Given the description of an element on the screen output the (x, y) to click on. 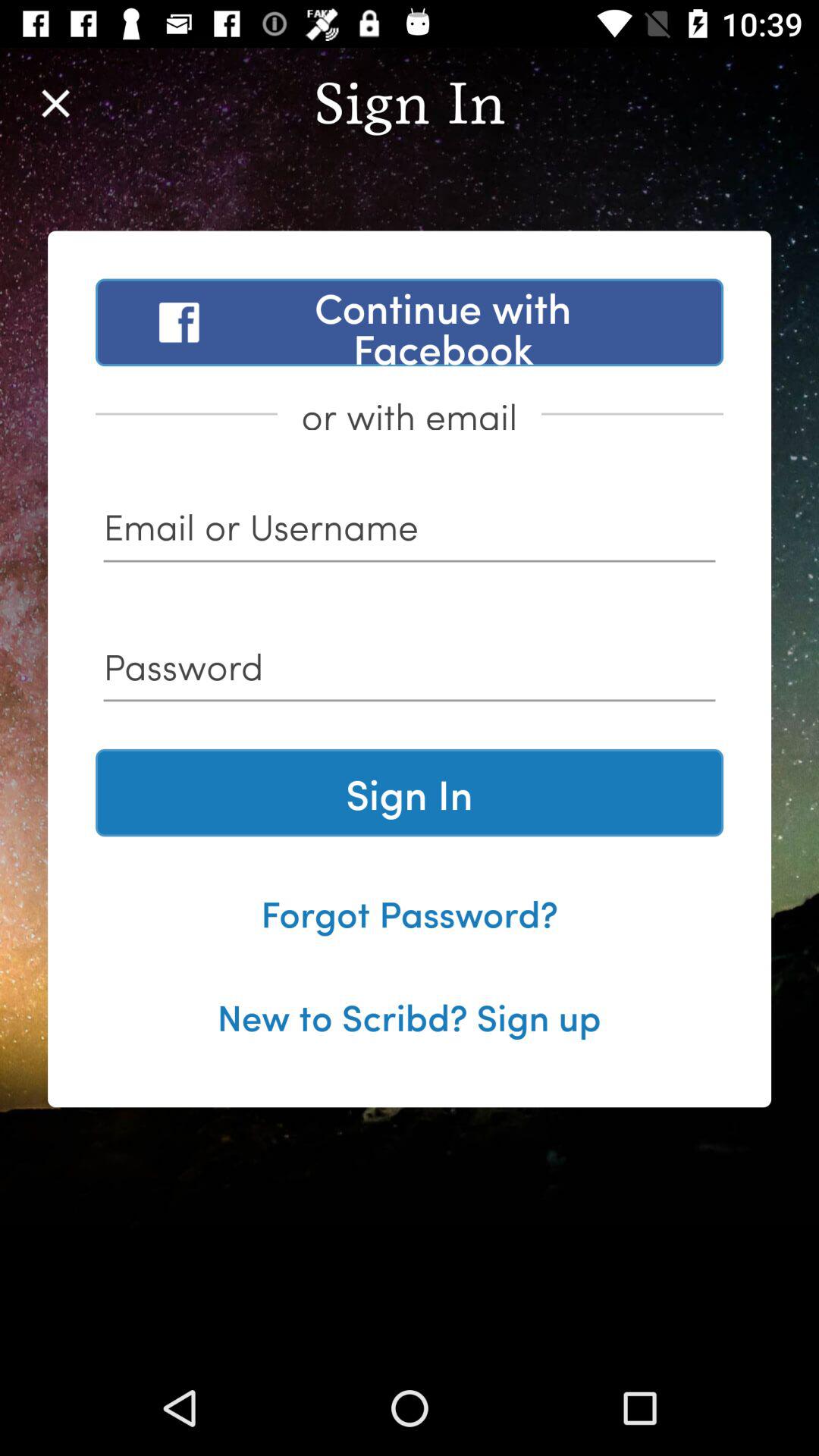
enter password (409, 671)
